Given the description of an element on the screen output the (x, y) to click on. 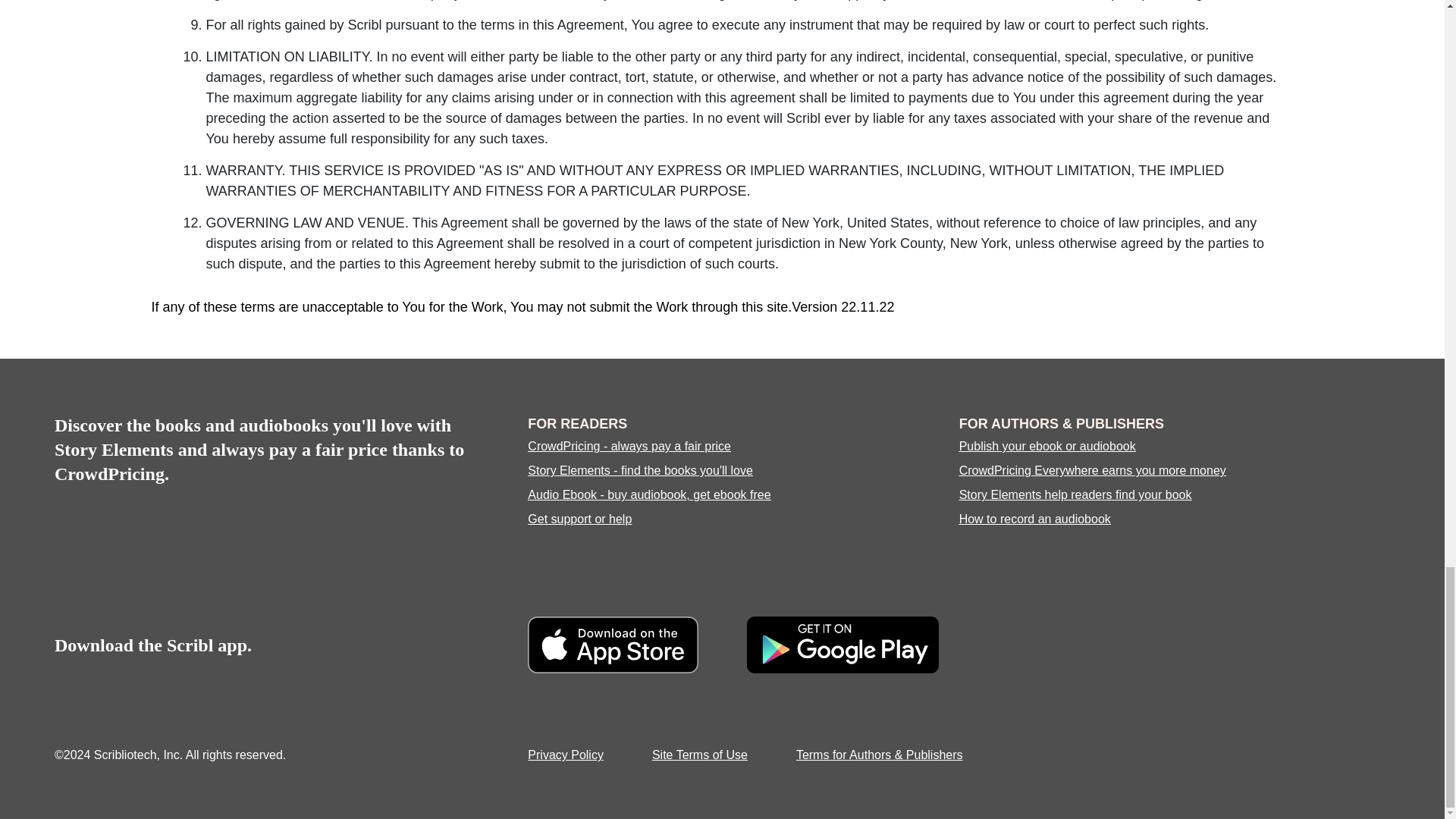
Publish your ebook or audiobook (1047, 445)
Get support or help (579, 518)
CrowdPricing Everywhere earns you more money (1092, 470)
Story Elements - find the books you'll love (639, 470)
Audio Ebook - buy audiobook, get ebook free (648, 494)
Privacy Policy (565, 754)
CrowdPricing - always pay a fair price (628, 445)
Story Elements help readers find your book (1075, 494)
How to record an audiobook (1034, 518)
Site Terms of Use (700, 754)
